Given the description of an element on the screen output the (x, y) to click on. 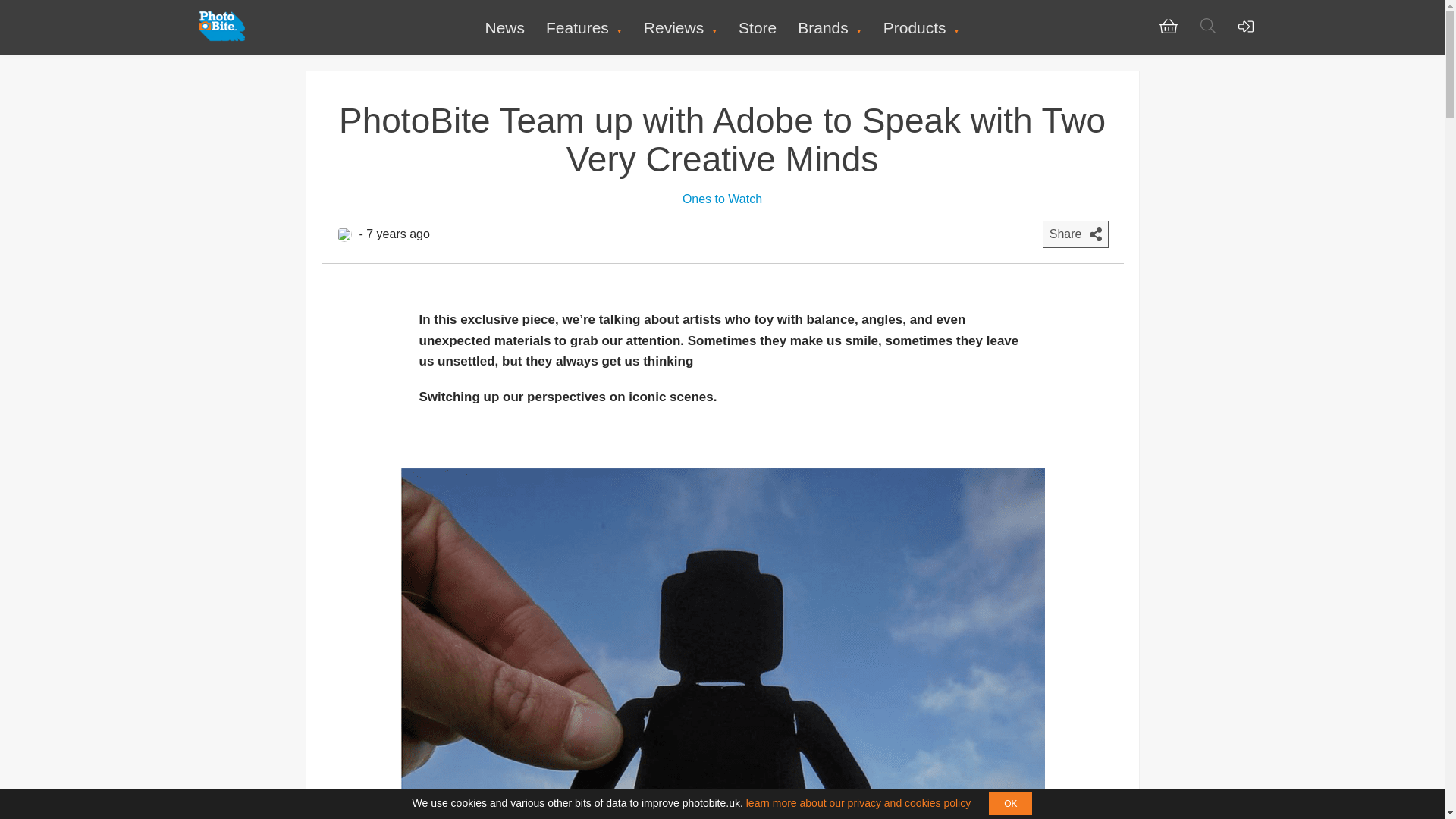
Features (584, 27)
Brands (829, 27)
Back to PhotoBite home (221, 37)
Reviews (680, 27)
learn more about our privacy and cookies policy (858, 802)
Store (757, 27)
OK (1010, 803)
View your shopping cart (1168, 29)
News (504, 27)
